Given the description of an element on the screen output the (x, y) to click on. 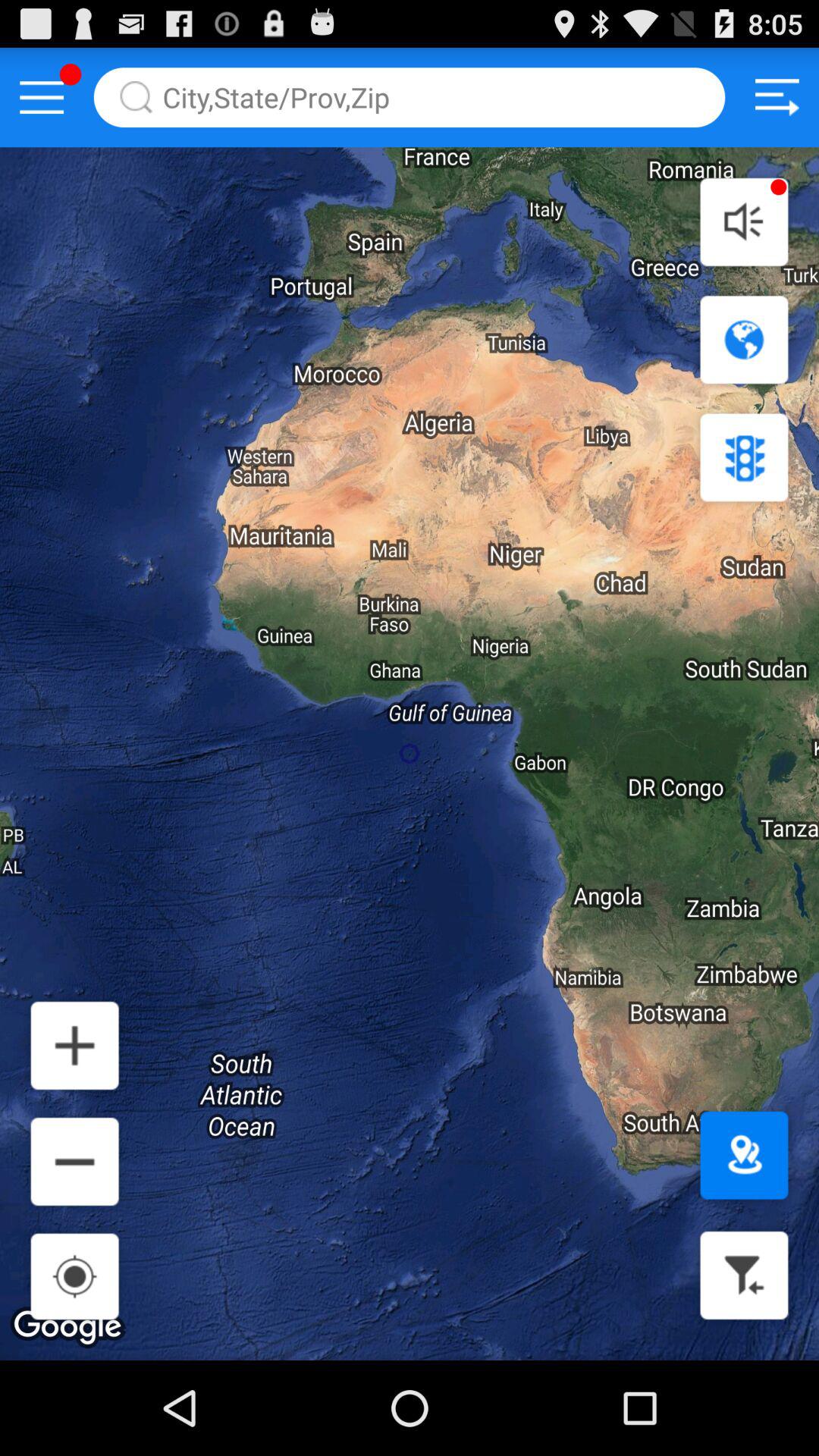
go to increace (74, 1045)
